Given the description of an element on the screen output the (x, y) to click on. 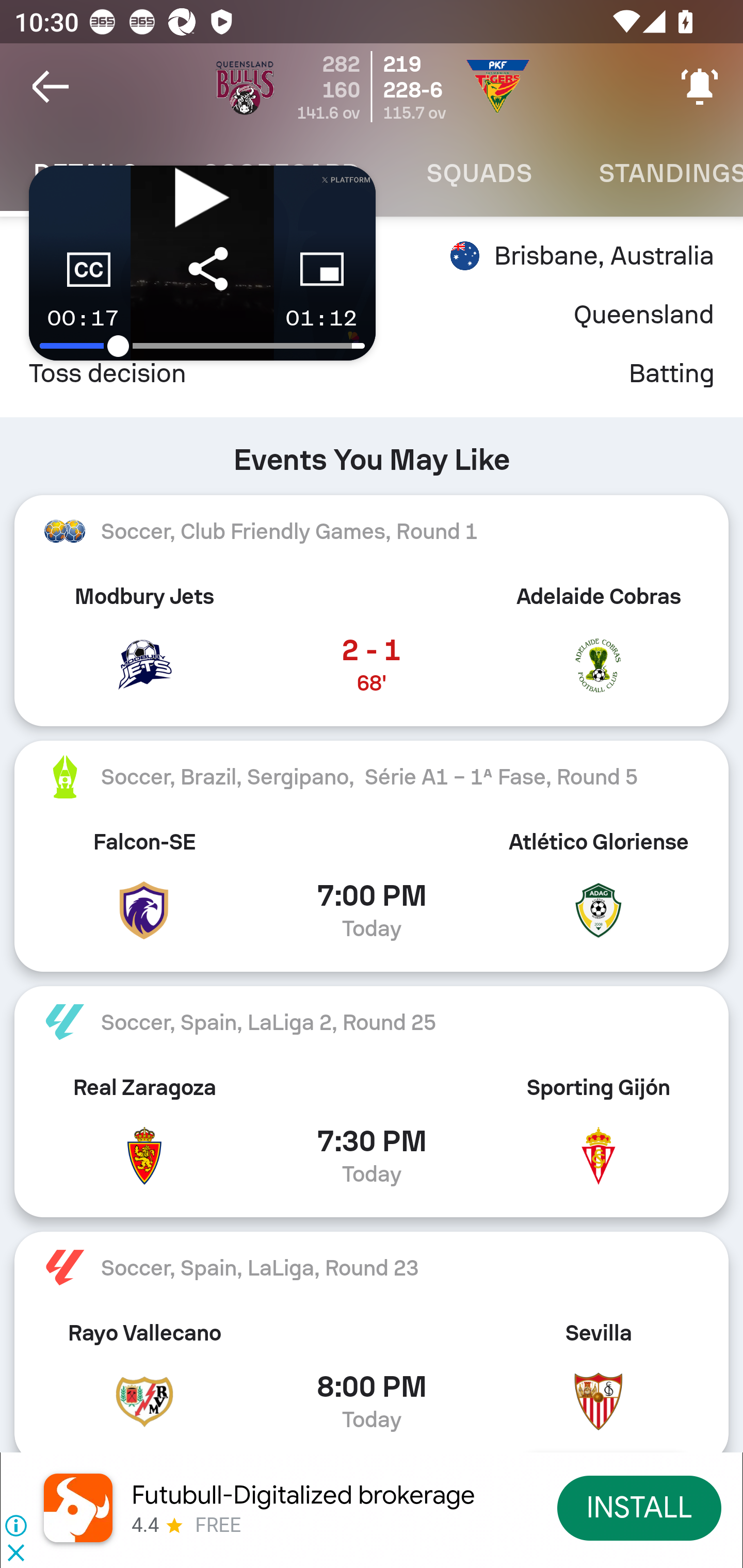
Navigate up (50, 86)
Squads SQUADS (479, 173)
Standings STANDINGS (654, 173)
Events You May Like (371, 452)
Soccer, Club Friendly Games, Round 1 (371, 531)
Soccer, Spain, LaLiga 2, Round 25 (371, 1022)
Soccer, Spain, LaLiga, Round 23 (371, 1268)
INSTALL (639, 1507)
Futubull-Digitalized brokerage (302, 1494)
